Given the description of an element on the screen output the (x, y) to click on. 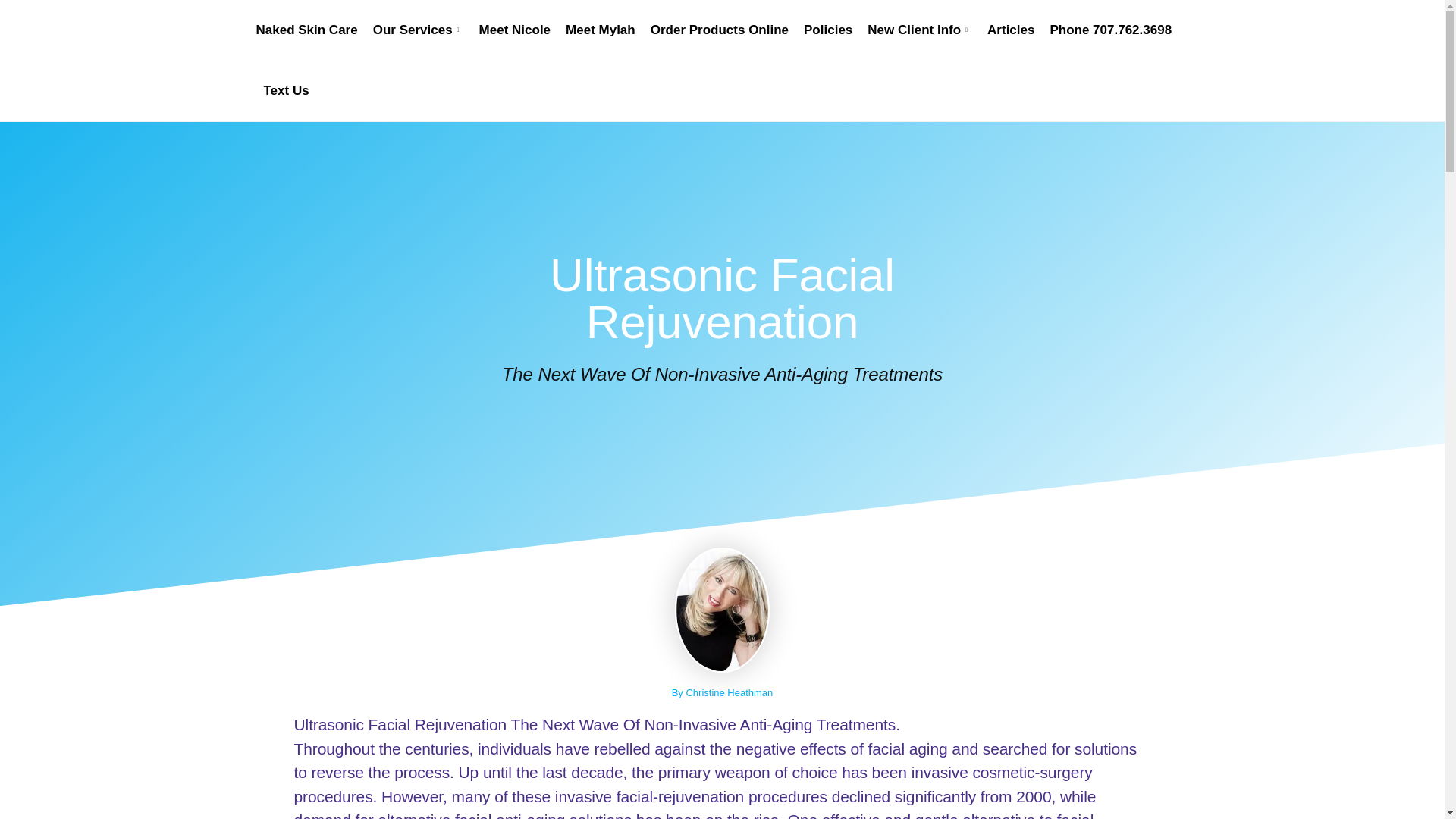
Meet Mylah (600, 30)
New Client Info (919, 30)
Phone 707.762.3698 (1110, 30)
Our Services (418, 30)
Articles (1010, 30)
Order Products Online (719, 30)
Meet Nicole (514, 30)
Naked Skin Care (310, 30)
Text Us (286, 90)
Policies (828, 30)
